Given the description of an element on the screen output the (x, y) to click on. 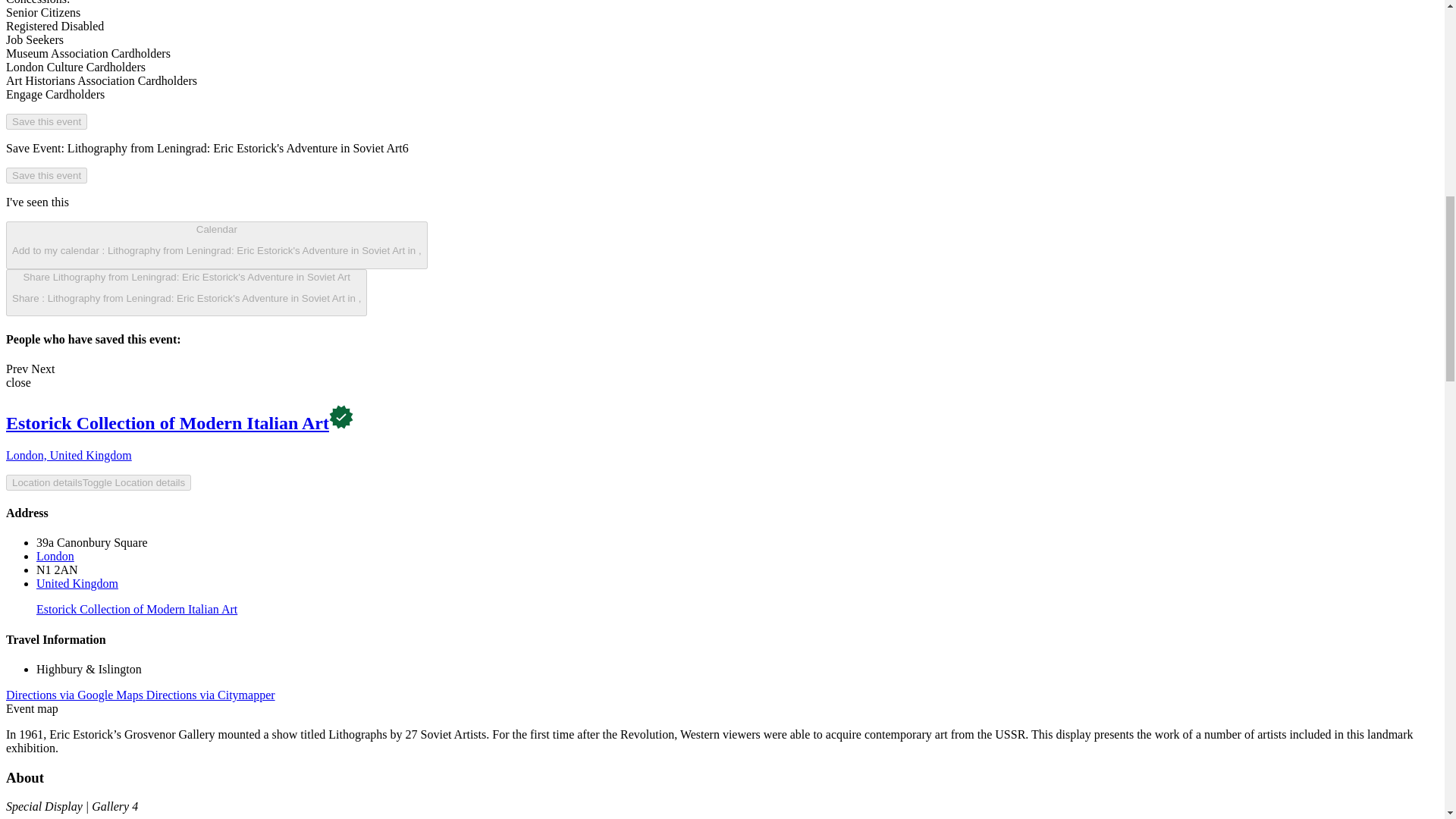
London, United Kingdom (68, 454)
United Kingdom (76, 583)
Next (42, 368)
Estorick Collection of Modern Italian Art (167, 423)
London (55, 555)
Save this event (46, 175)
Save this event (46, 121)
Estorick Collection of Modern Italian Art (136, 608)
Prev (16, 368)
Location detailsToggle Location details (97, 482)
close (17, 382)
Directions via Citymapper (211, 694)
Directions via Google Maps (76, 694)
